Given the description of an element on the screen output the (x, y) to click on. 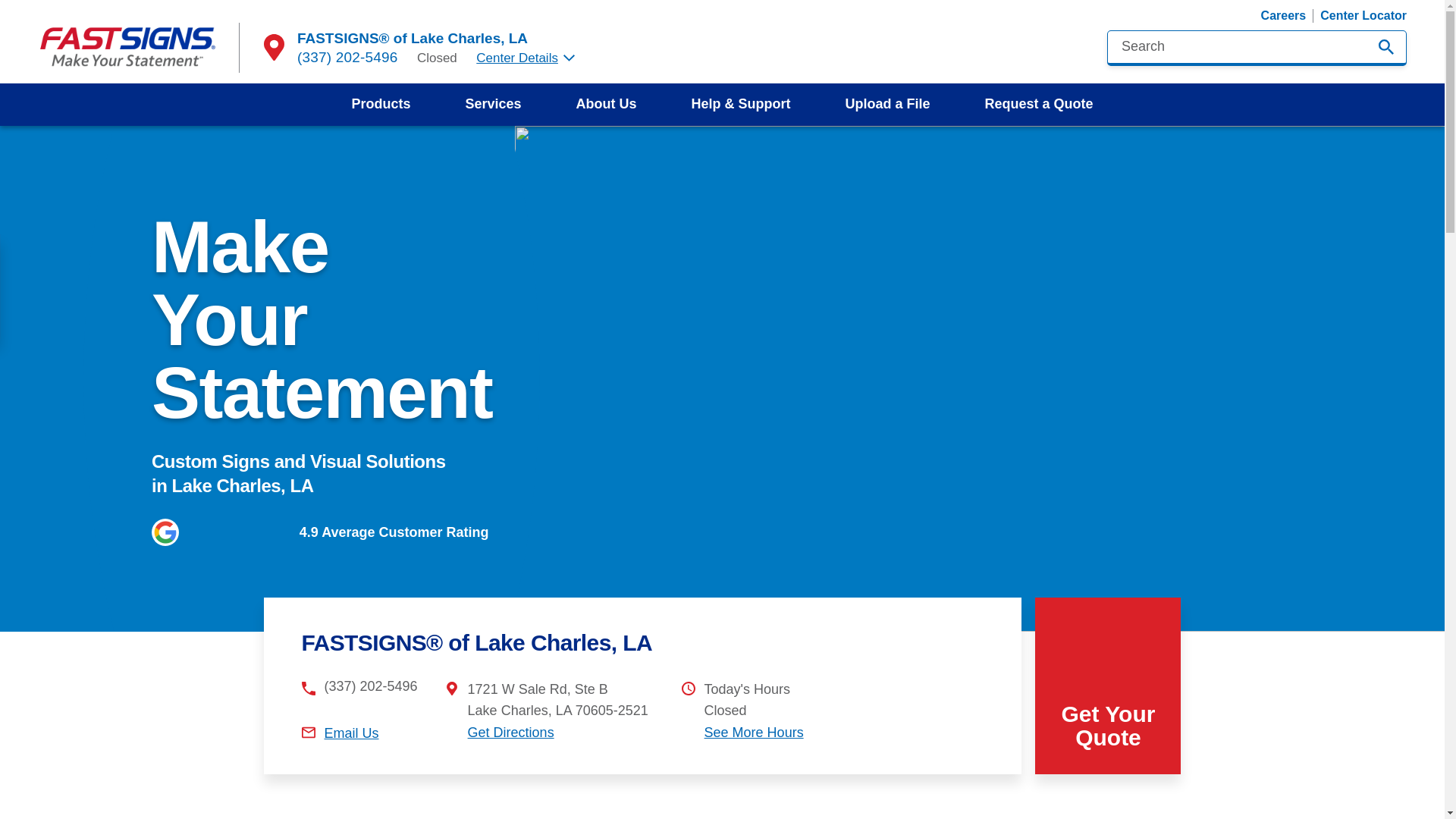
View Google Reviews (238, 532)
View Google Reviews (320, 532)
Careers (1283, 15)
Search Our Site (1385, 47)
Center Details (525, 58)
